Given the description of an element on the screen output the (x, y) to click on. 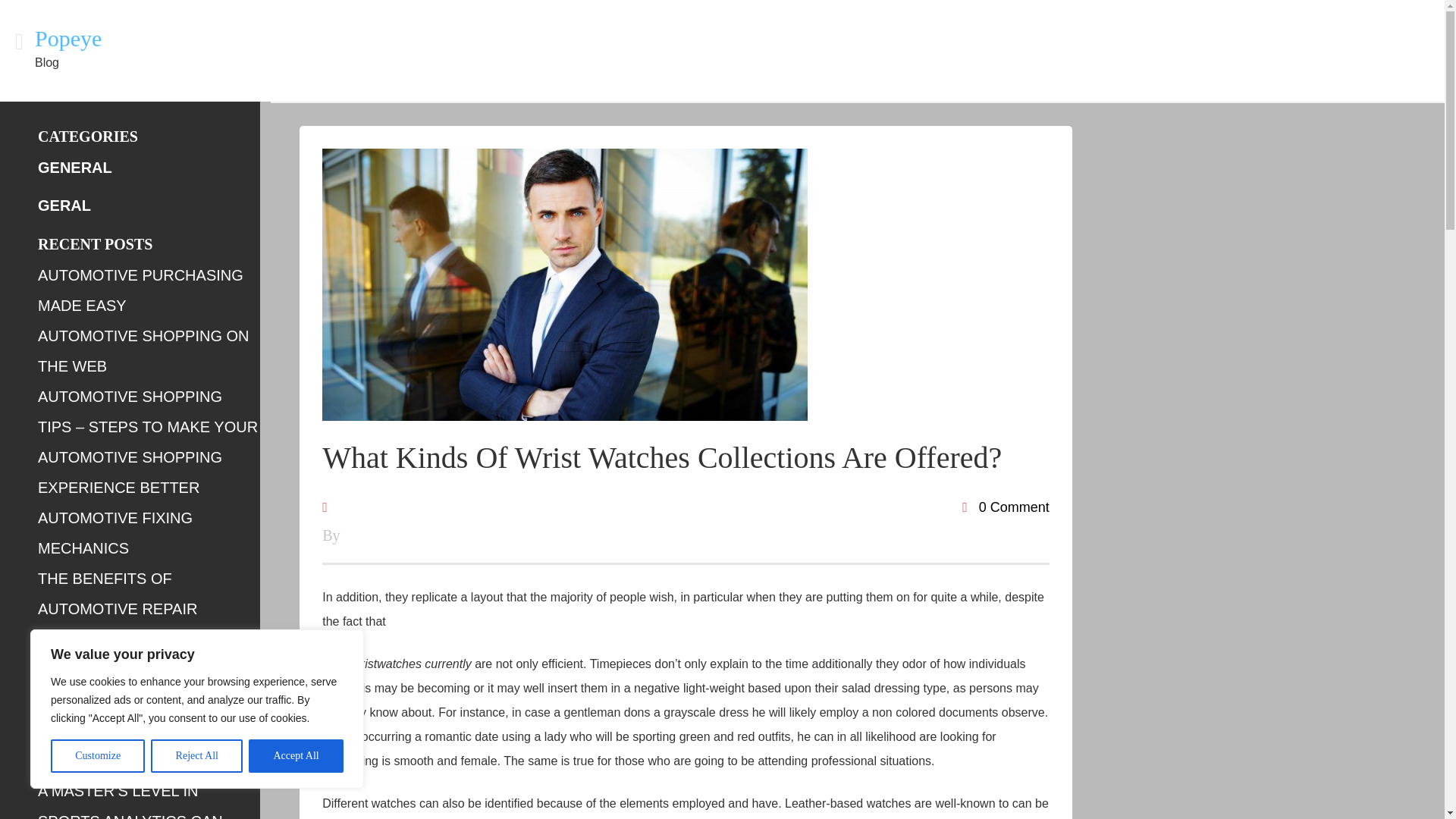
GENERAL (74, 167)
Popeye (67, 37)
Reject All (197, 756)
Customize (97, 756)
GERAL (63, 205)
0 Comment (1005, 507)
Accept All (295, 756)
